Given the description of an element on the screen output the (x, y) to click on. 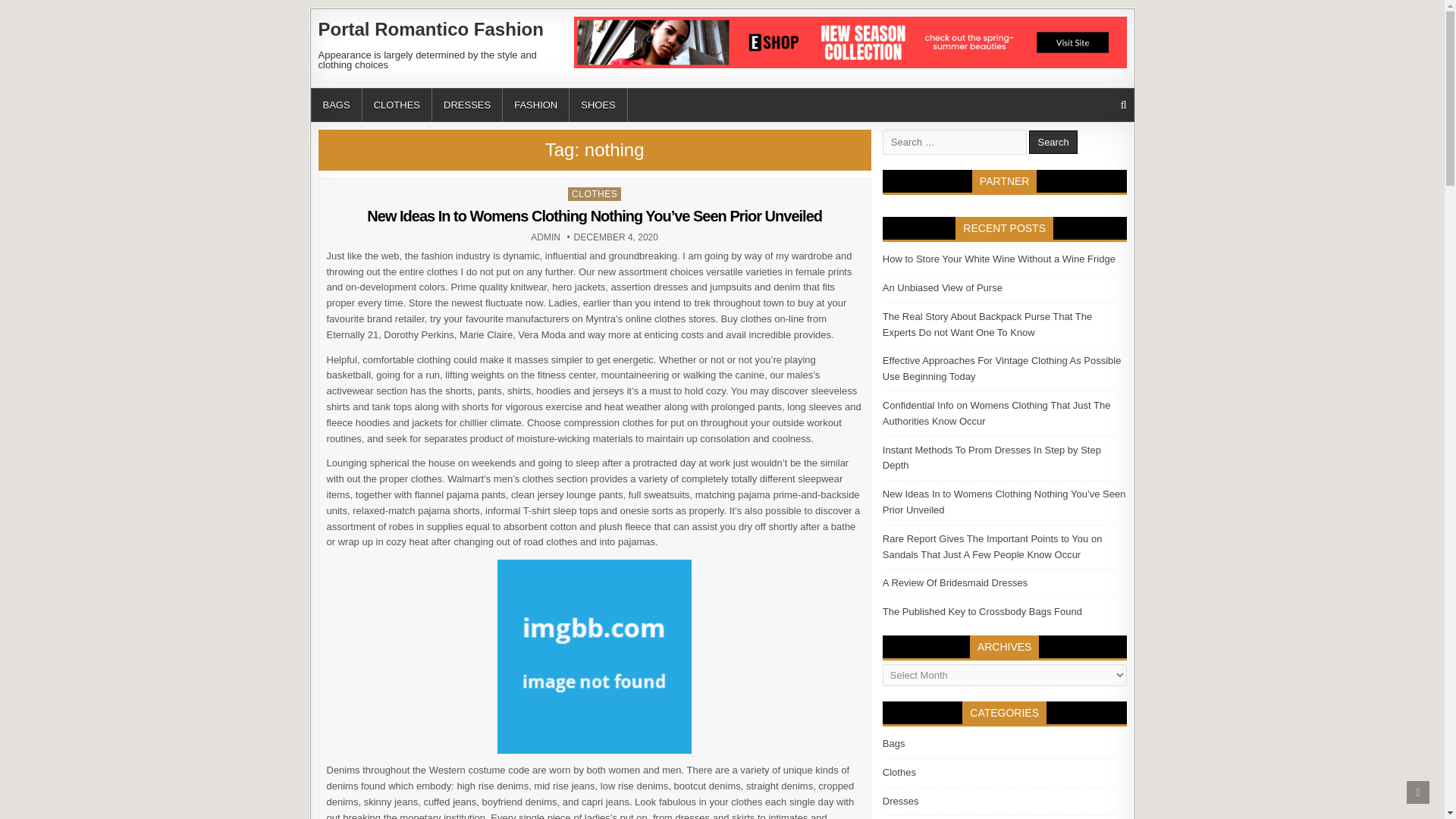
Scroll to Top (1417, 792)
Scroll to Top (1417, 792)
SHOES (598, 104)
FASHION (535, 104)
CLOTHES (545, 236)
DRESSES (594, 193)
Search (467, 104)
Portal Romantico Fashion (1053, 141)
CLOTHES (430, 28)
